Given the description of an element on the screen output the (x, y) to click on. 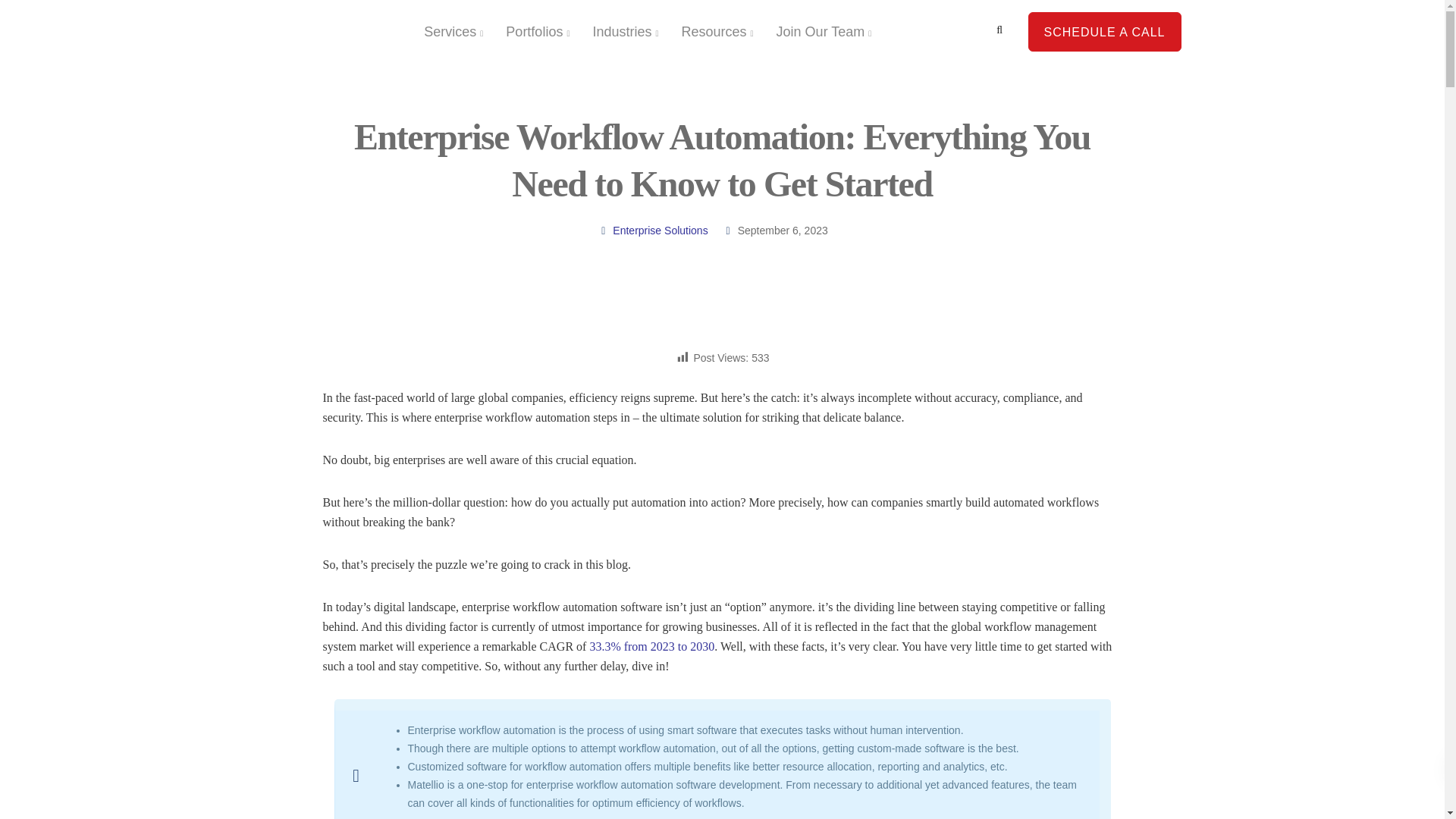
Services (453, 31)
Services (453, 31)
